Given the description of an element on the screen output the (x, y) to click on. 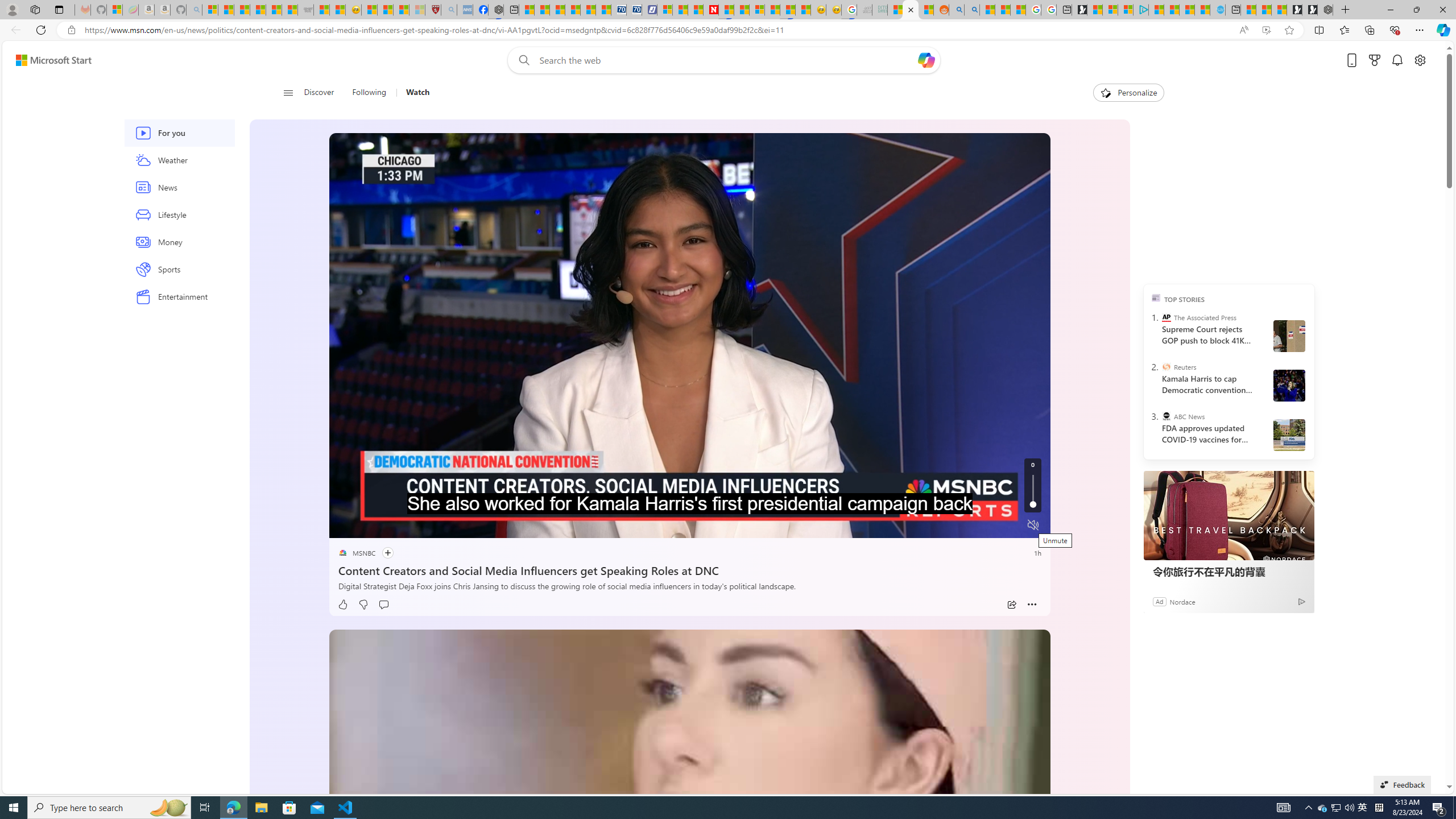
Enter your search term (726, 59)
 Harris and Walz campaign in Wisconsin (1288, 385)
Cheap Hotels - Save70.com (633, 9)
